Given the description of an element on the screen output the (x, y) to click on. 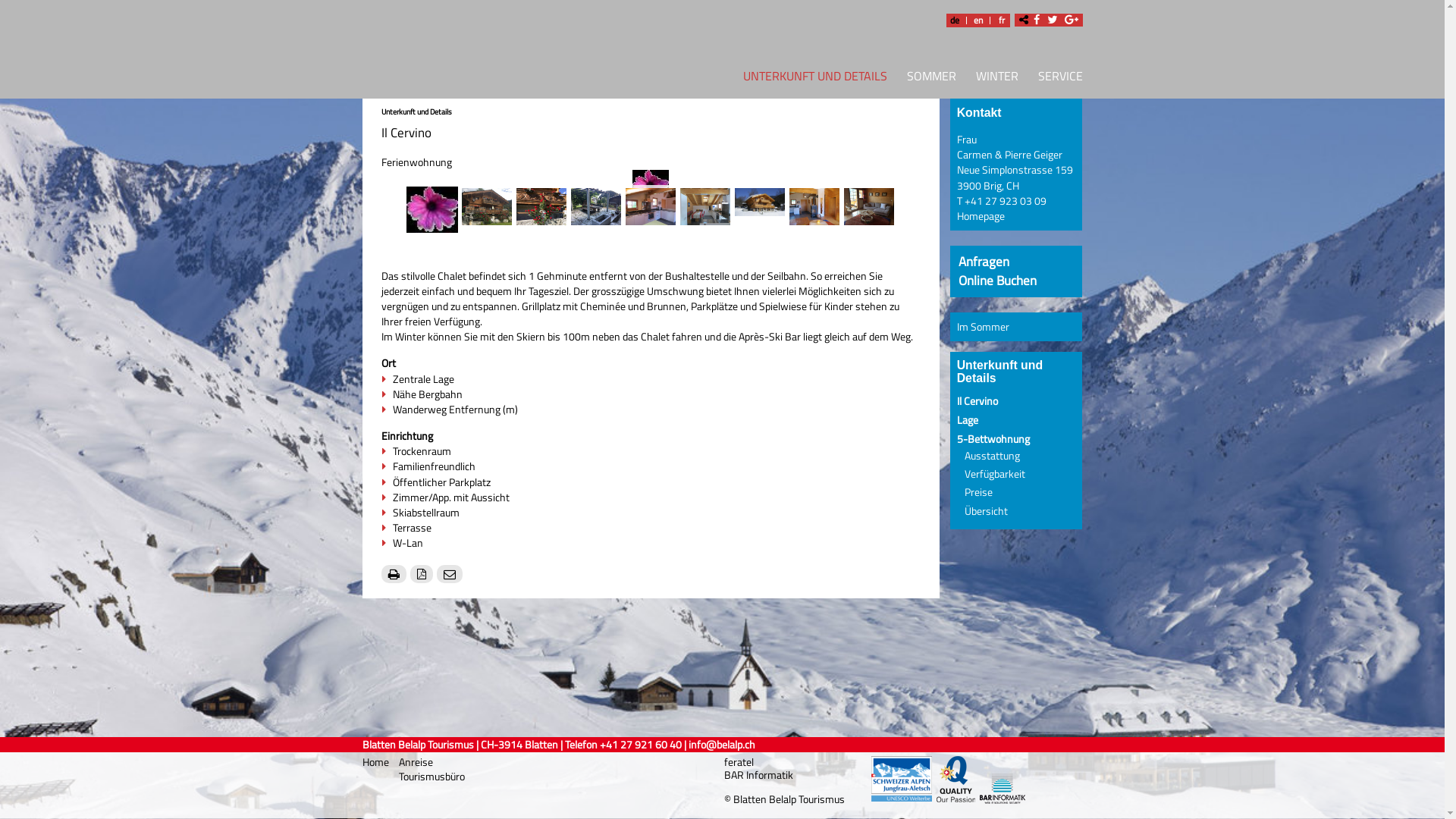
SERVICE Element type: text (1055, 78)
Online Buchen Element type: text (997, 279)
UNTERKUNFT UND DETAILS Element type: text (809, 78)
Im Sommer Element type: text (983, 326)
Homepage Element type: text (980, 215)
BAR Informatik Element type: text (758, 774)
Anreise Element type: text (415, 761)
en Element type: text (977, 19)
de Element type: text (954, 19)
Home Element type: text (376, 761)
fr Element type: text (1001, 19)
WINTER Element type: text (997, 78)
SOMMER Element type: text (930, 78)
info@belalp.ch Element type: text (721, 744)
5-Bettwohnung Element type: text (993, 438)
Unterkunft und Details Element type: text (415, 111)
Anfragen Element type: text (983, 261)
Ausstattung Element type: text (991, 455)
Il Cervino Element type: text (977, 400)
Lage Element type: text (967, 419)
feratel Element type: text (738, 761)
Preise Element type: text (978, 491)
